Given the description of an element on the screen output the (x, y) to click on. 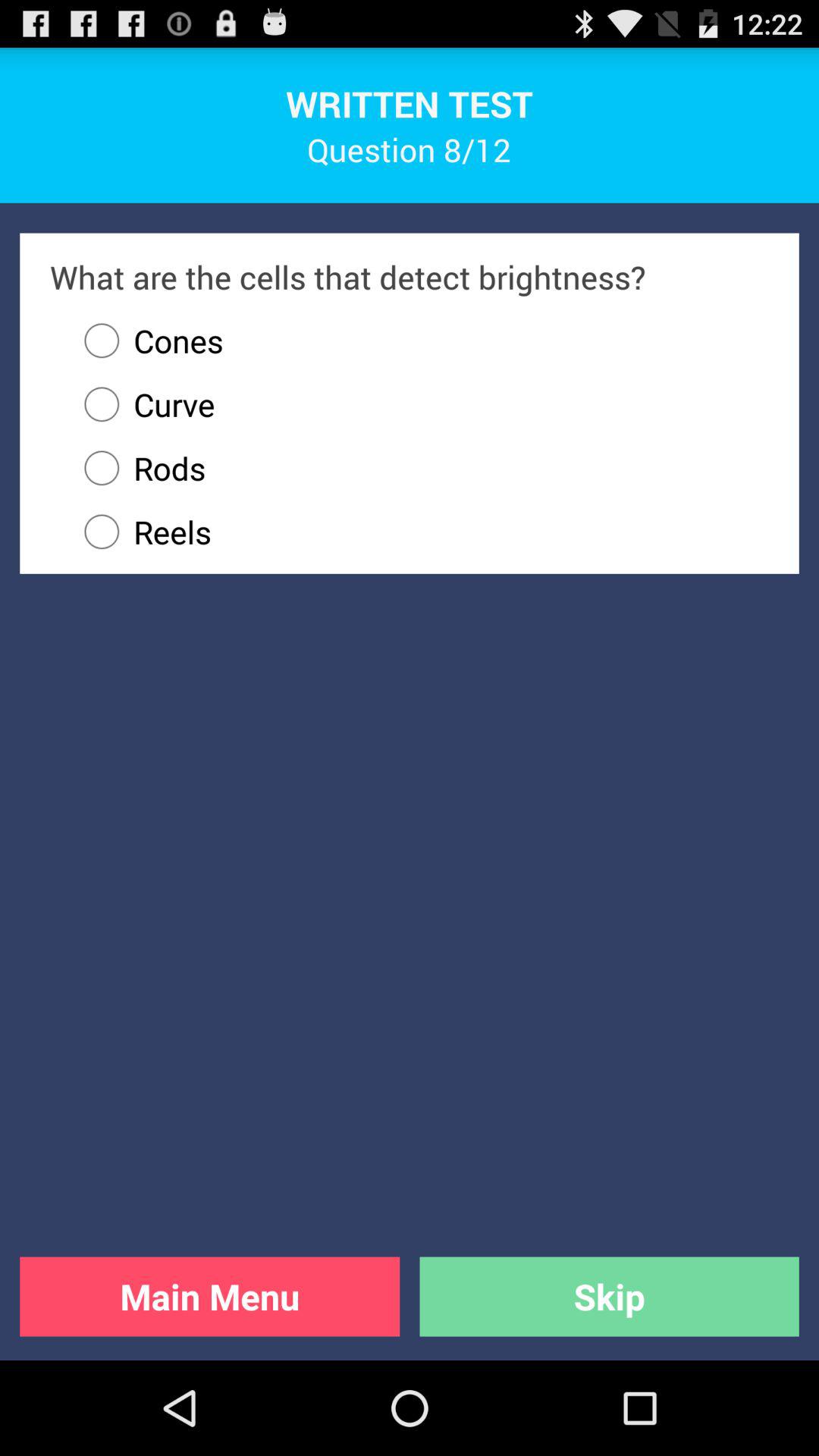
click the curve item (141, 404)
